Given the description of an element on the screen output the (x, y) to click on. 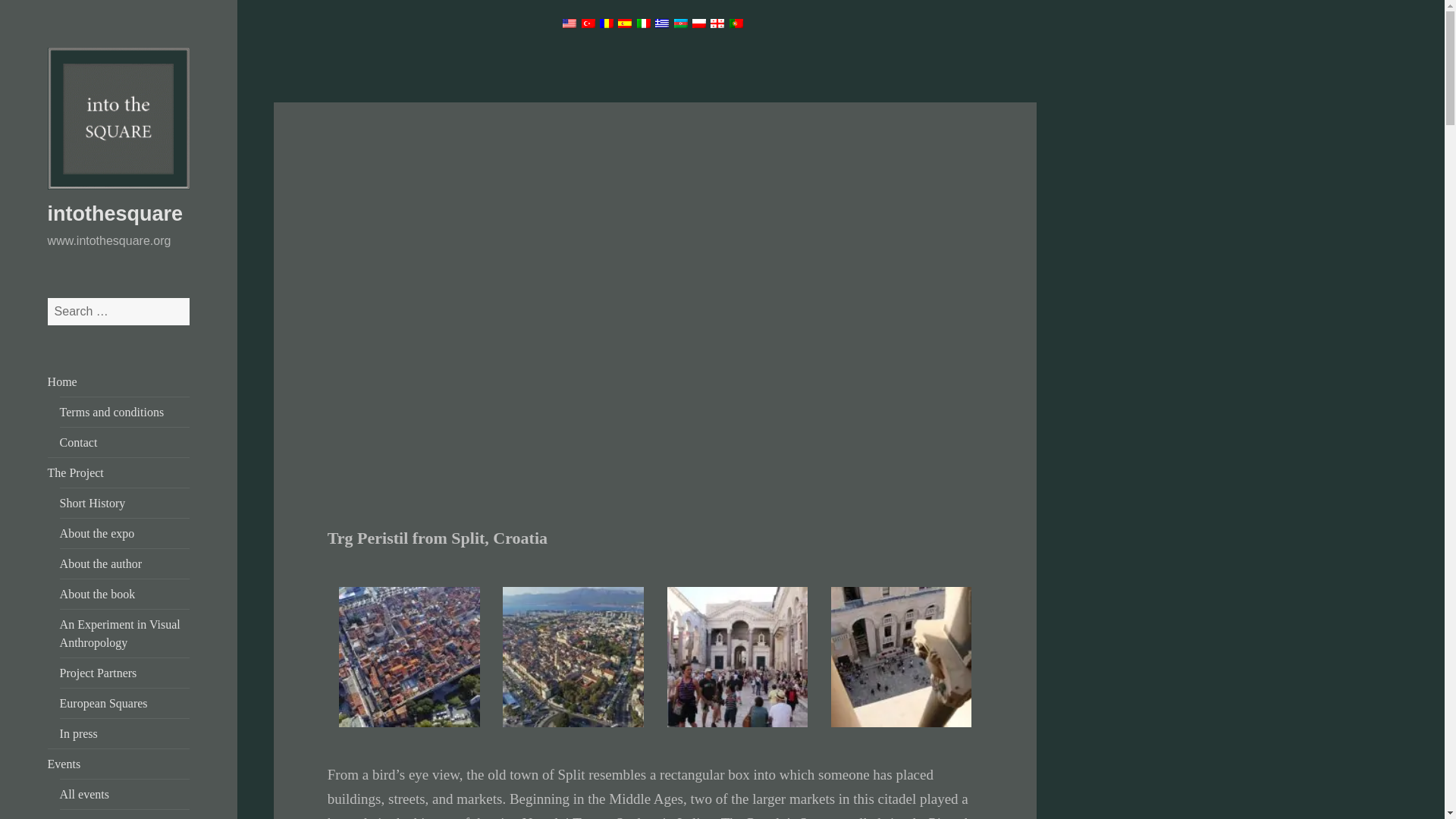
In press (78, 733)
Home (62, 381)
An Experiment in Visual Anthropology (119, 633)
intothesquare (115, 213)
Project Partners (97, 672)
About the book (97, 594)
Events (64, 763)
